Given the description of an element on the screen output the (x, y) to click on. 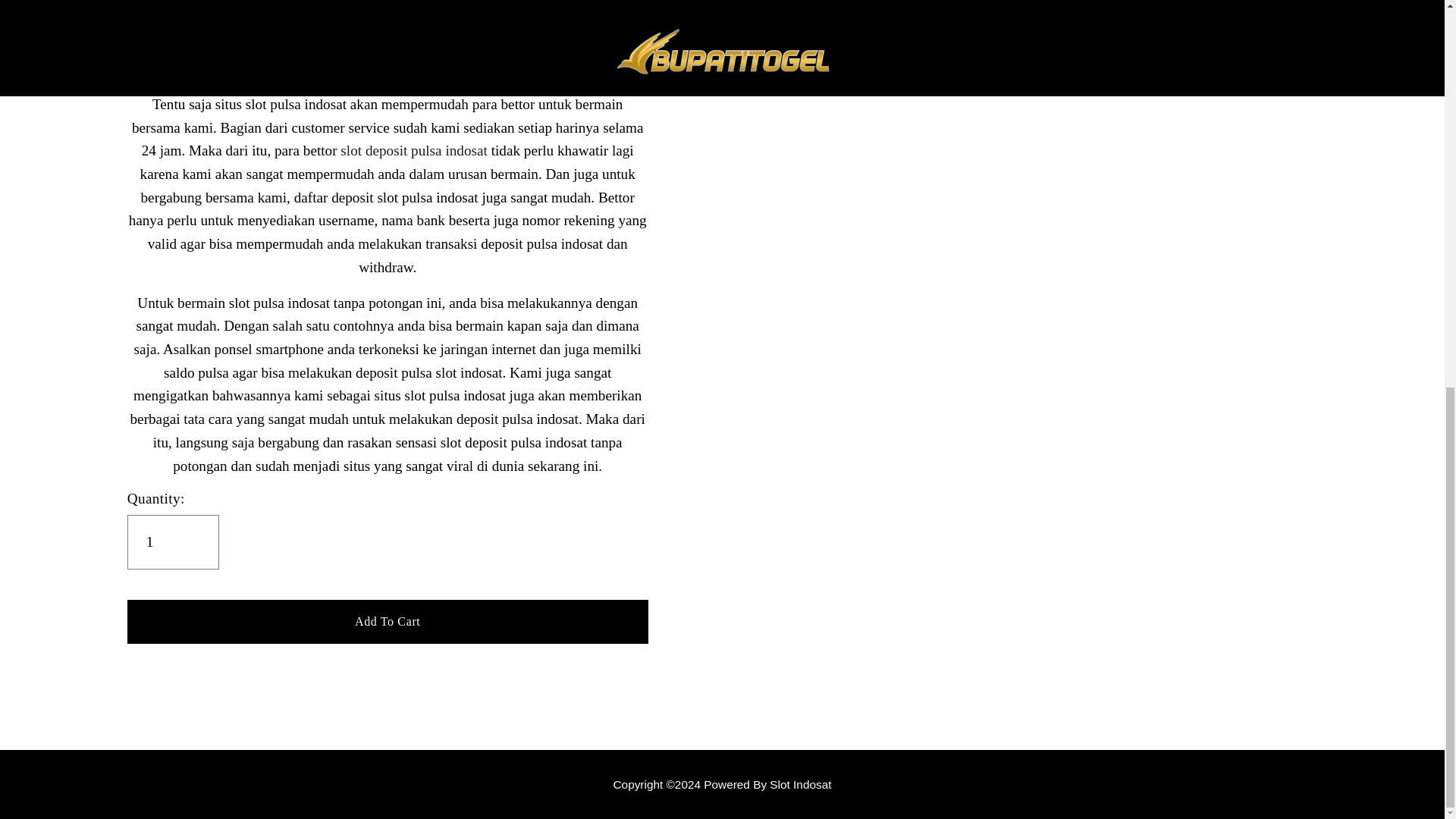
Add To Cart (387, 620)
Slot Indosat (721, 784)
slot deposit pulsa indosat (413, 150)
1 (173, 542)
